Given the description of an element on the screen output the (x, y) to click on. 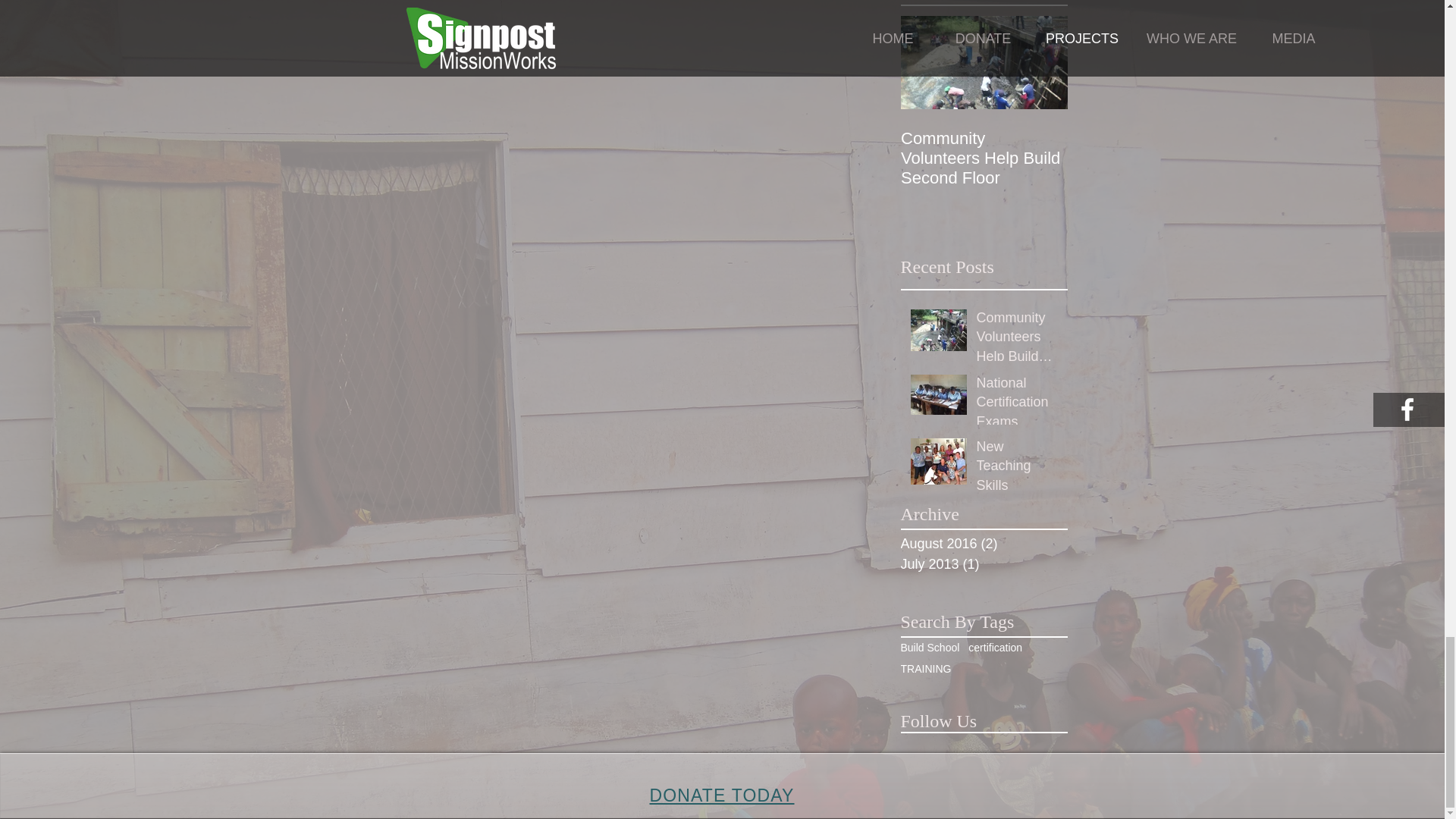
DONATE TODAY (721, 795)
National Certification Exams (1017, 405)
Community Volunteers Help Build Second Floor (984, 158)
TRAINING (926, 668)
Build School (930, 647)
certification (995, 647)
Community Volunteers Help Build Second Floor (1017, 340)
New Teaching Skills (1017, 469)
